Given the description of an element on the screen output the (x, y) to click on. 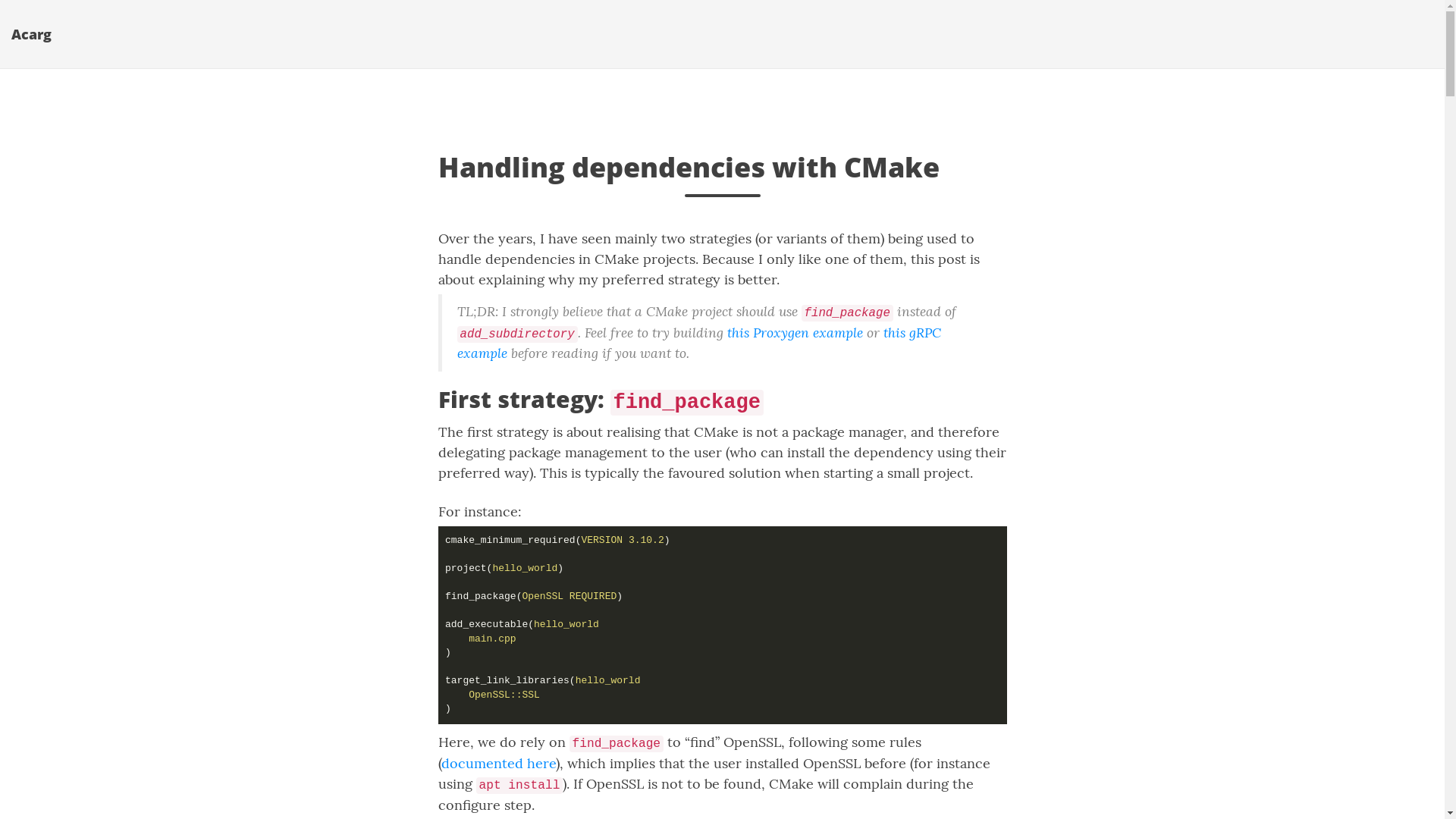
Share Element type: hover (21, 14)
Toggle fullscreen Element type: hover (37, 14)
Zoom in/out Element type: hover (53, 14)
Close (Esc) Element type: hover (6, 14)
Next (arrow right) Element type: hover (21, 33)
this gRPC example Element type: text (698, 342)
documented here Element type: text (498, 762)
this Proxygen example Element type: text (794, 332)
Acarg Element type: text (31, 34)
Previous (arrow left) Element type: hover (6, 33)
